Given the description of an element on the screen output the (x, y) to click on. 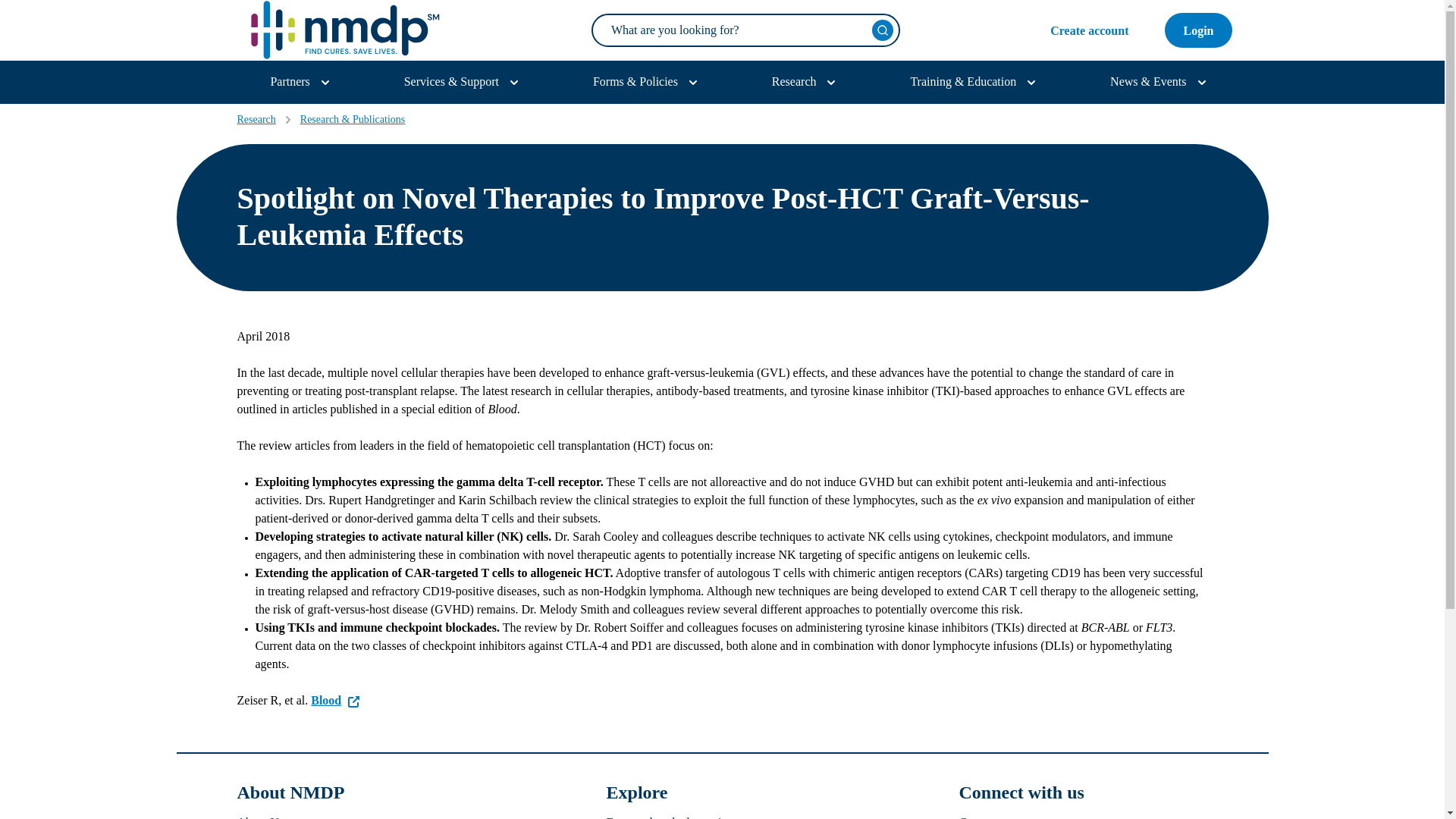
Partners (301, 82)
Submit (882, 29)
Login (1197, 30)
Create account (1088, 29)
